Given the description of an element on the screen output the (x, y) to click on. 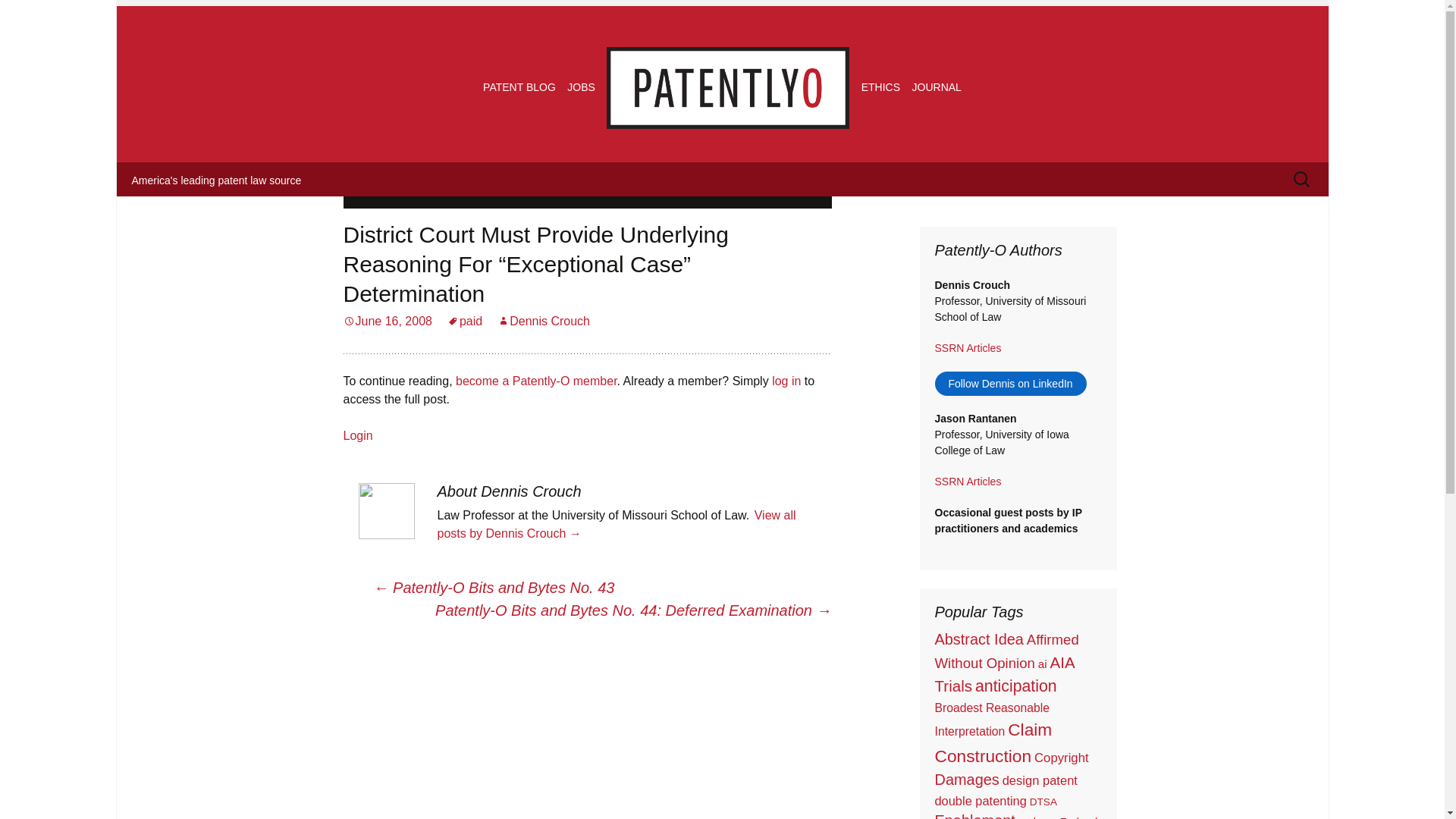
ETHICS (880, 87)
Patent law ethics by Hricik from Patently-O (880, 87)
June 16, 2008 (386, 320)
paid (463, 320)
log in (785, 380)
Follow Dennis on LinkedIn (1010, 383)
JOBS (581, 87)
Search (37, 15)
SSRN Articles (967, 481)
Dennis Crouch (543, 320)
